Given the description of an element on the screen output the (x, y) to click on. 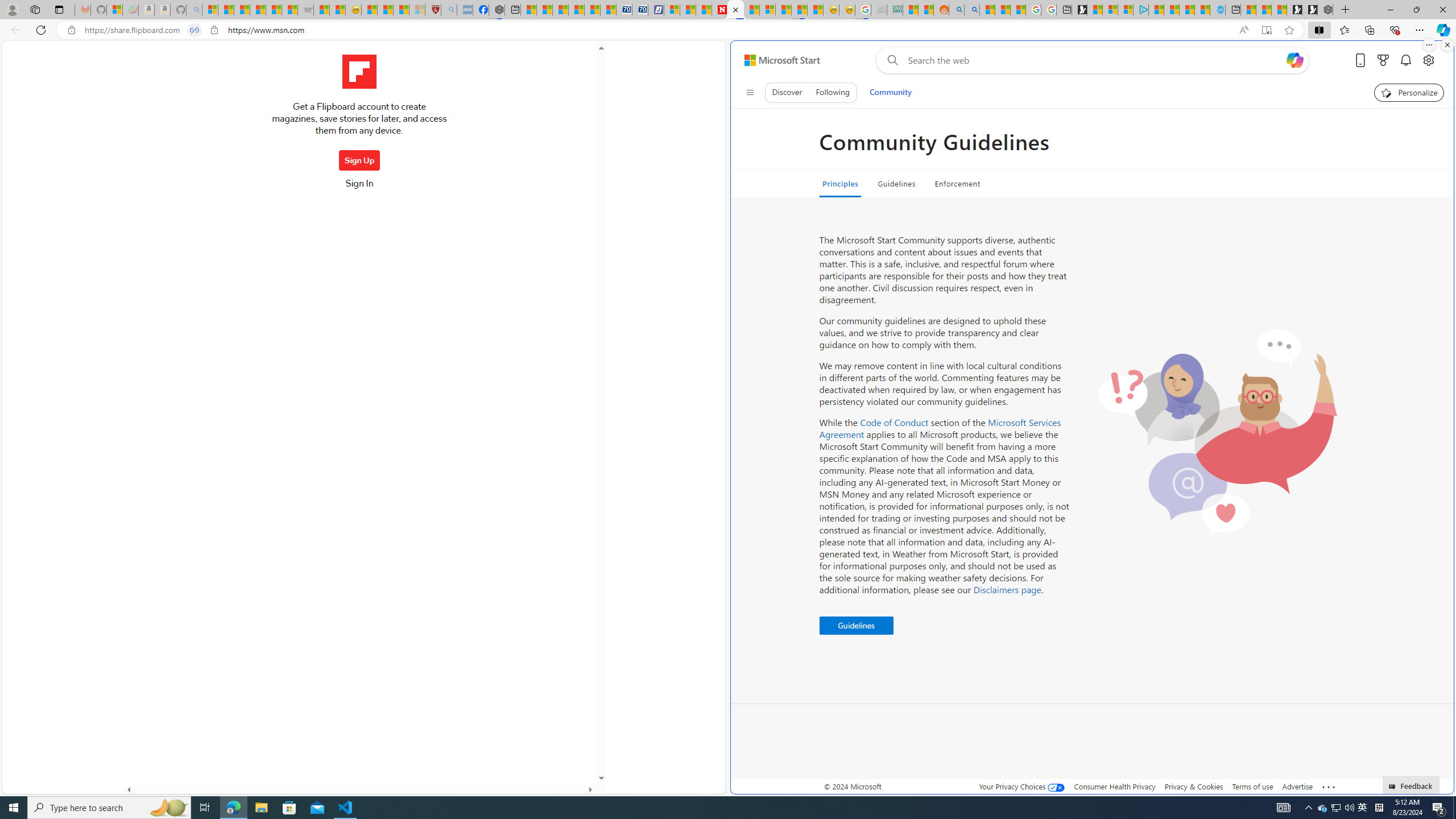
Community (889, 92)
Code of Conduct (894, 422)
Class: control icon-only (749, 92)
